Given the description of an element on the screen output the (x, y) to click on. 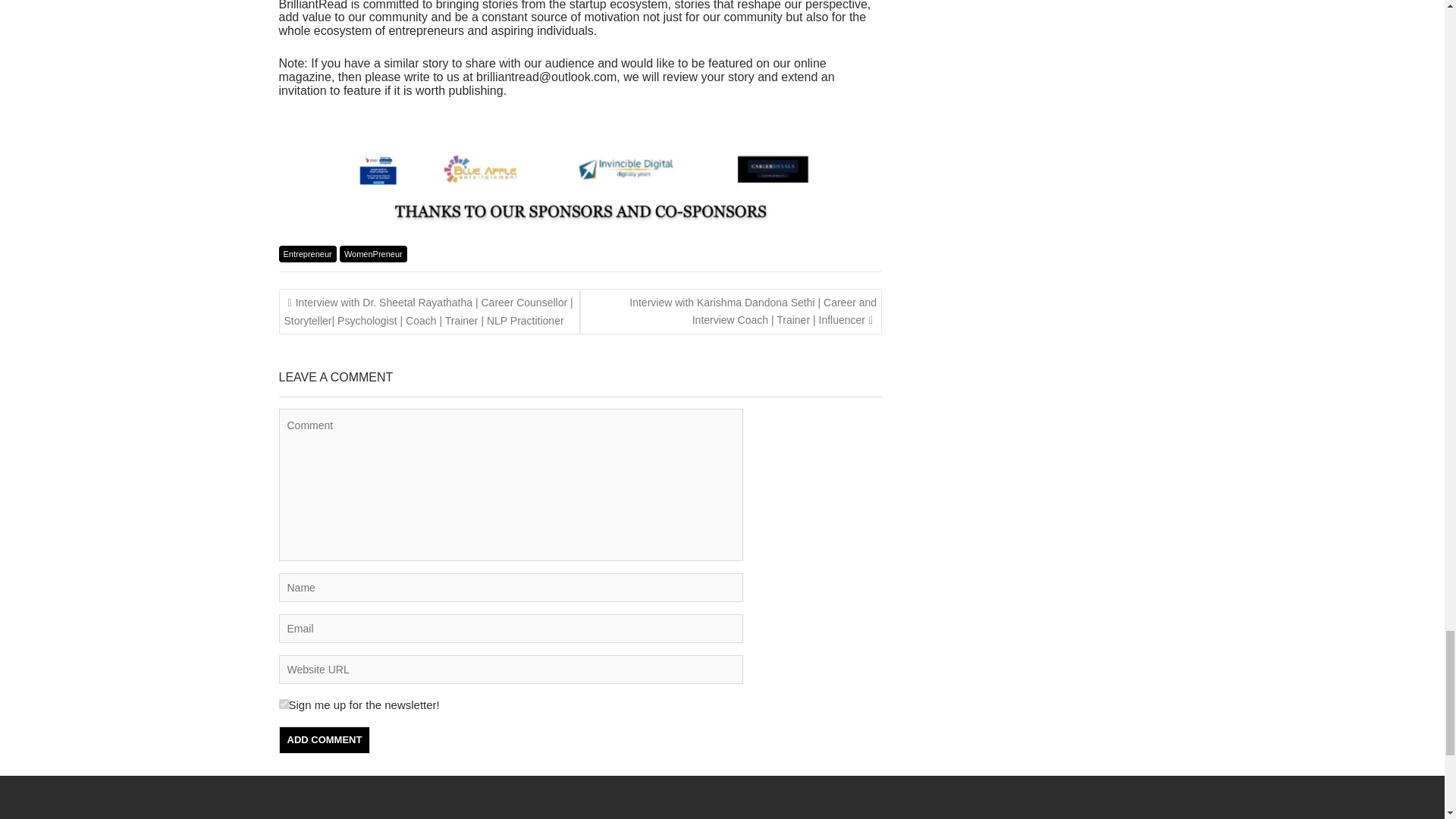
Add Comment (325, 739)
Entrepreneur (307, 253)
1 (283, 704)
WomenPreneur (373, 253)
Add Comment (325, 739)
